Given the description of an element on the screen output the (x, y) to click on. 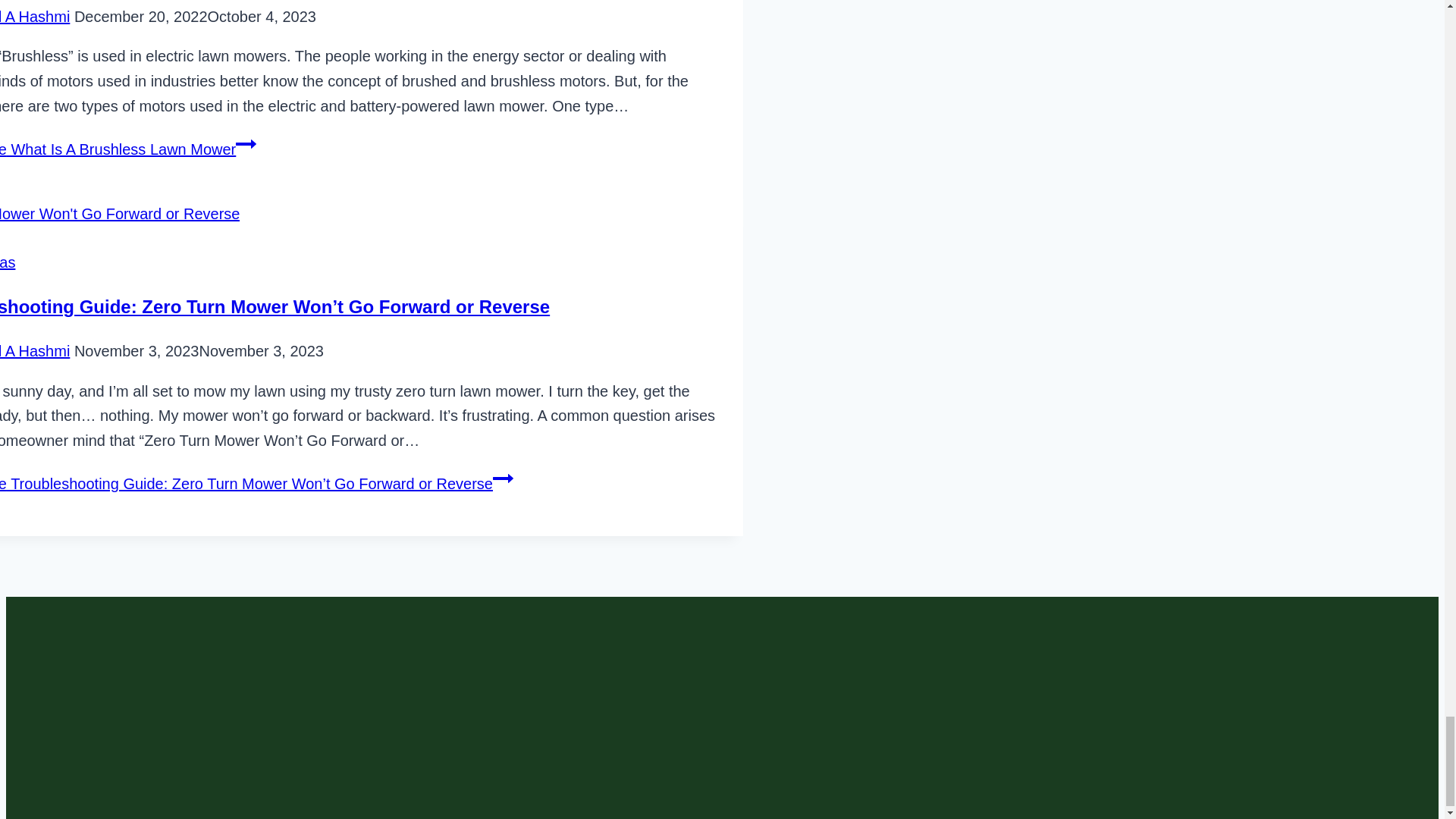
Naveed A Hashmi (34, 16)
Continue (245, 143)
Continue (503, 477)
